Given the description of an element on the screen output the (x, y) to click on. 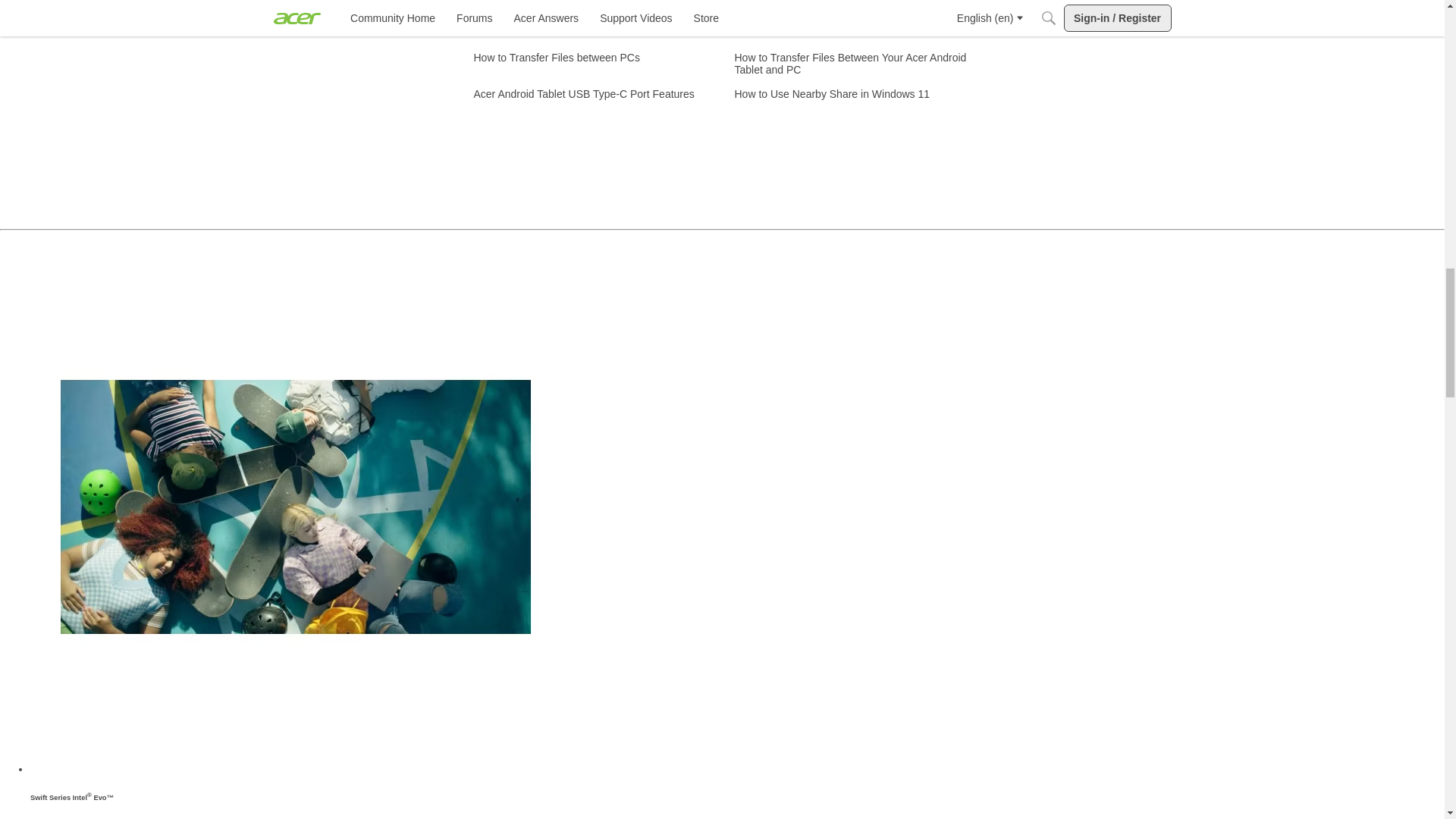
Acer Android Tablet USB Type-C Port Features (583, 93)
How to Use Nearby Share in Windows 11 (831, 93)
How to Transfer Files between PCs (556, 57)
